Given the description of an element on the screen output the (x, y) to click on. 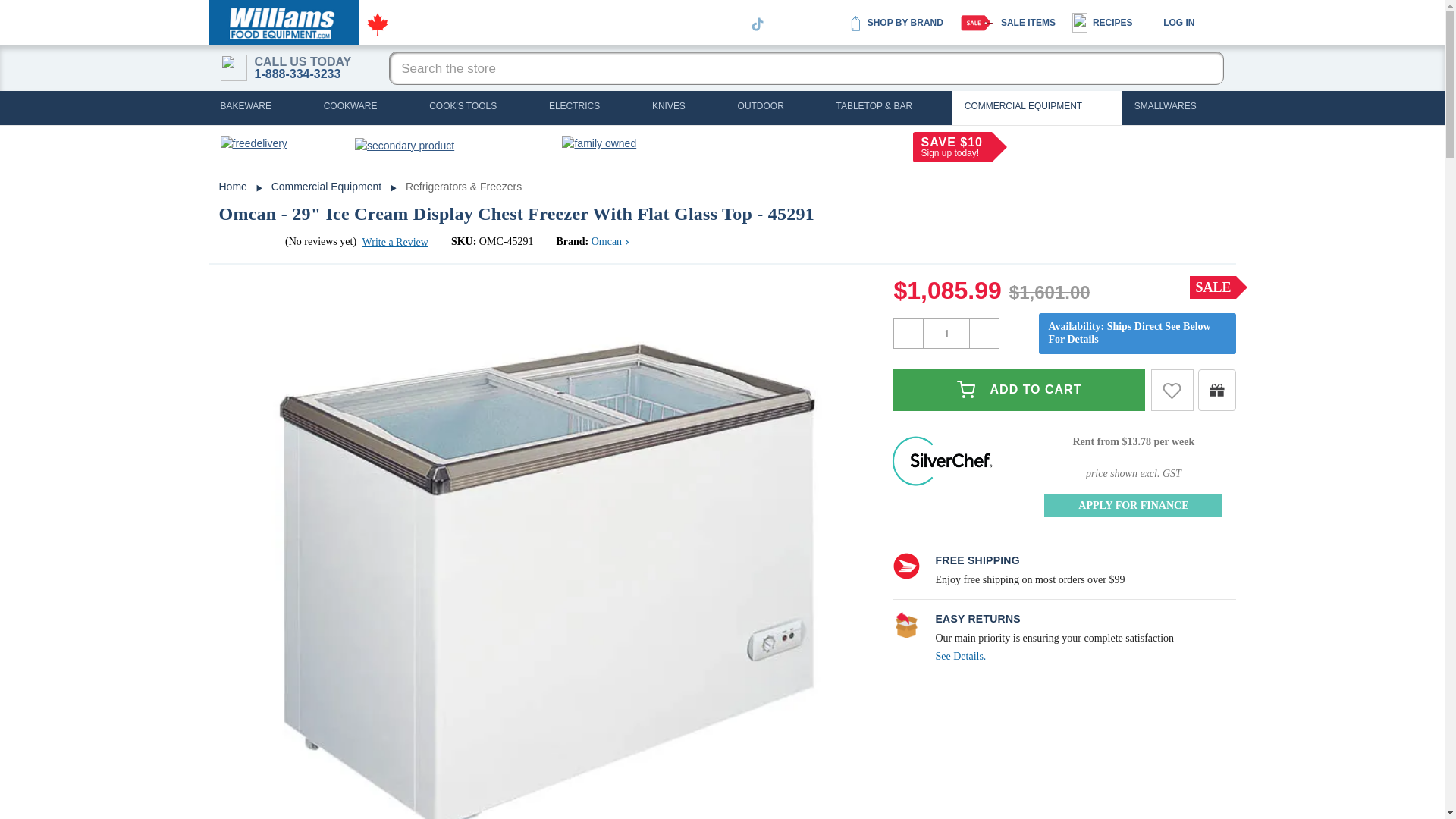
BAKEWARE (259, 107)
Williams Food Equipment  (283, 22)
1-888-334-3233 (297, 73)
LOG IN (1178, 22)
SHOP BY BRAND (895, 22)
1 (946, 333)
SALE ITEMS (1008, 22)
RECIPES (1102, 22)
